Given the description of an element on the screen output the (x, y) to click on. 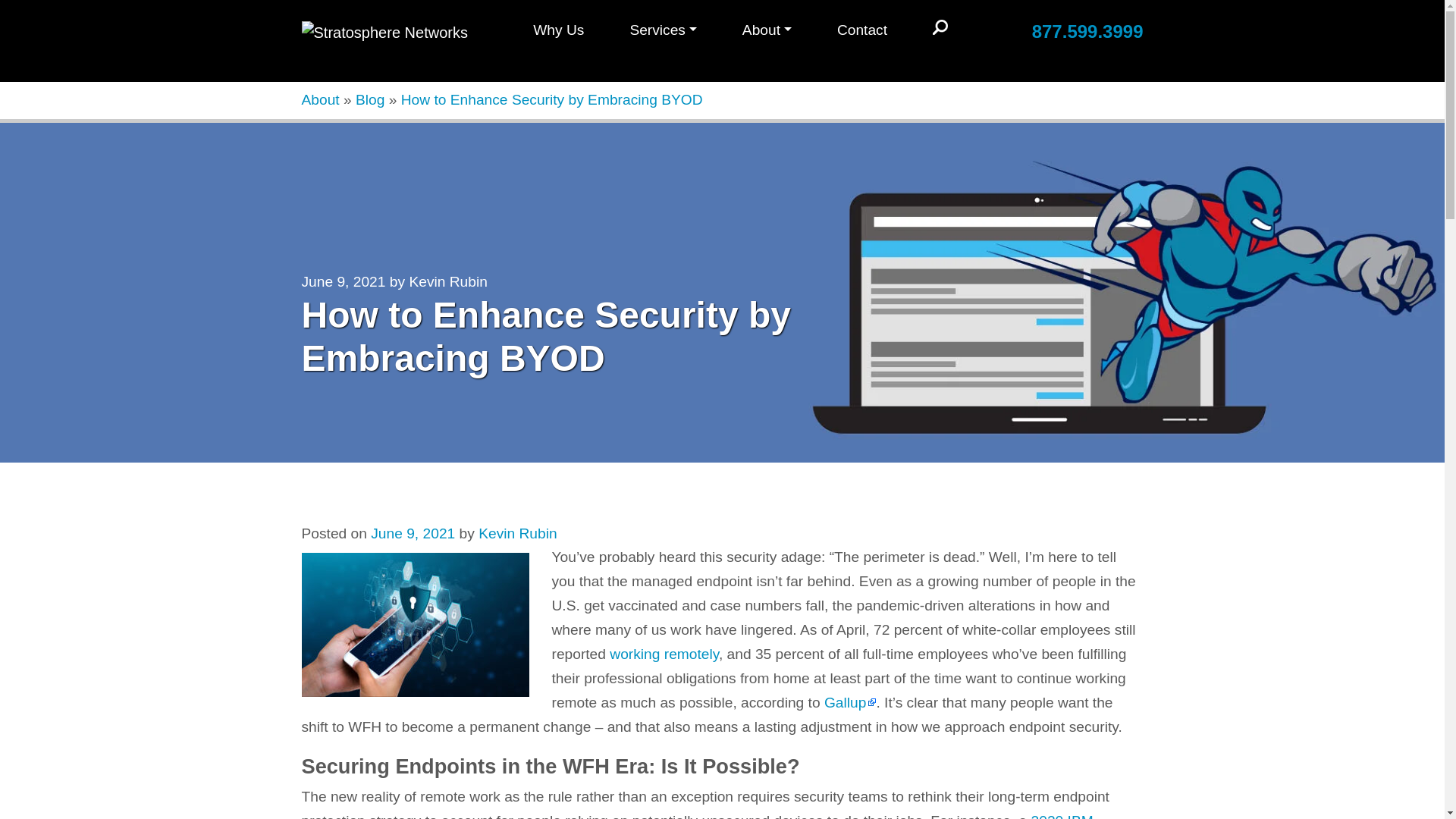
877.599.3999 (1087, 31)
June 9, 2021 (343, 281)
Contact (861, 31)
About (766, 31)
Search (939, 27)
Blog (369, 99)
2:55 PM (412, 533)
How to Enhance Security by Embracing BYOD (552, 99)
View all posts by Kevin Rubin (517, 533)
Services (663, 31)
Kevin Rubin (447, 281)
Why Us (559, 31)
About (320, 99)
